Given the description of an element on the screen output the (x, y) to click on. 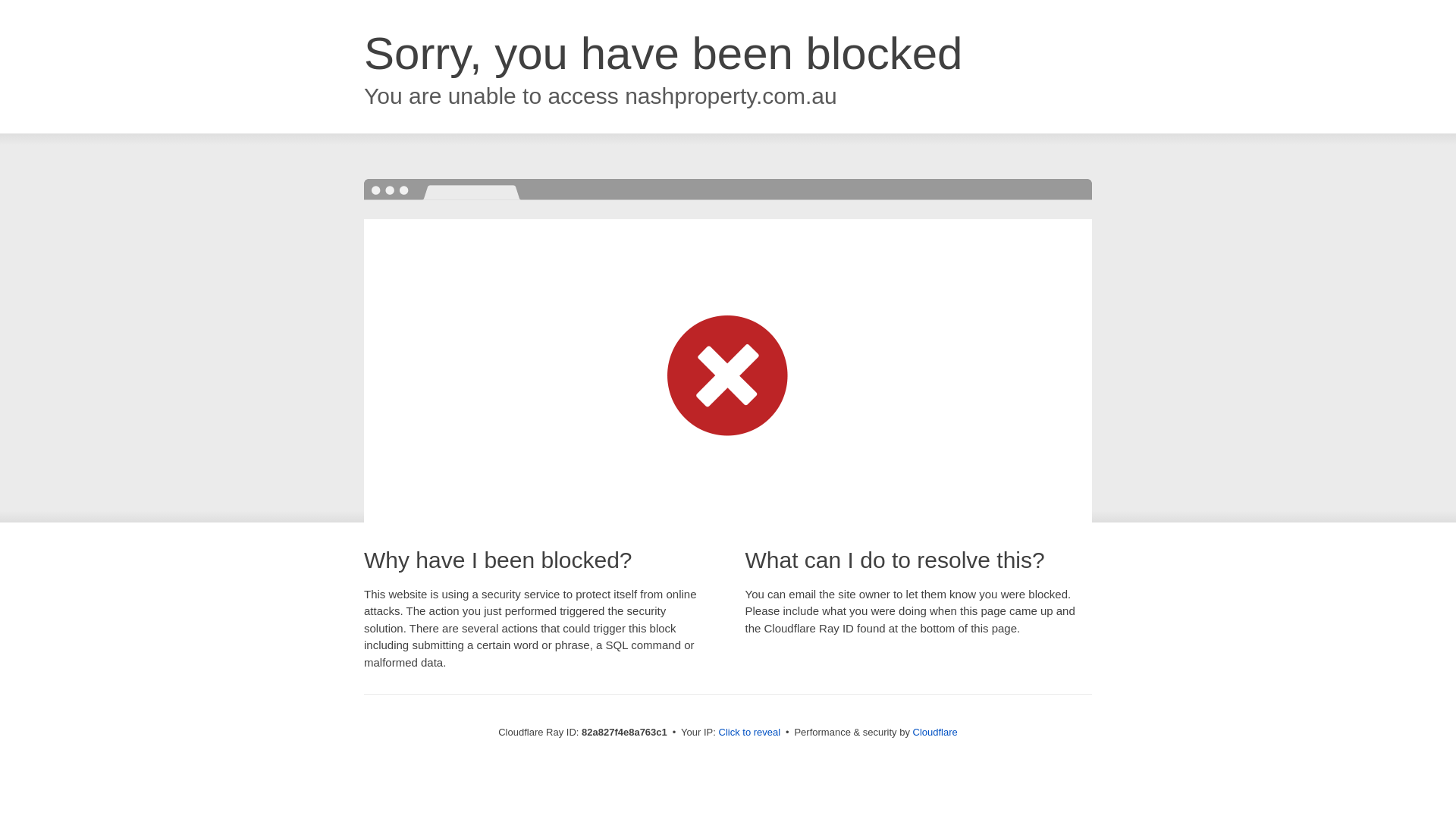
Cloudflare Element type: text (935, 731)
Click to reveal Element type: text (749, 732)
